Given the description of an element on the screen output the (x, y) to click on. 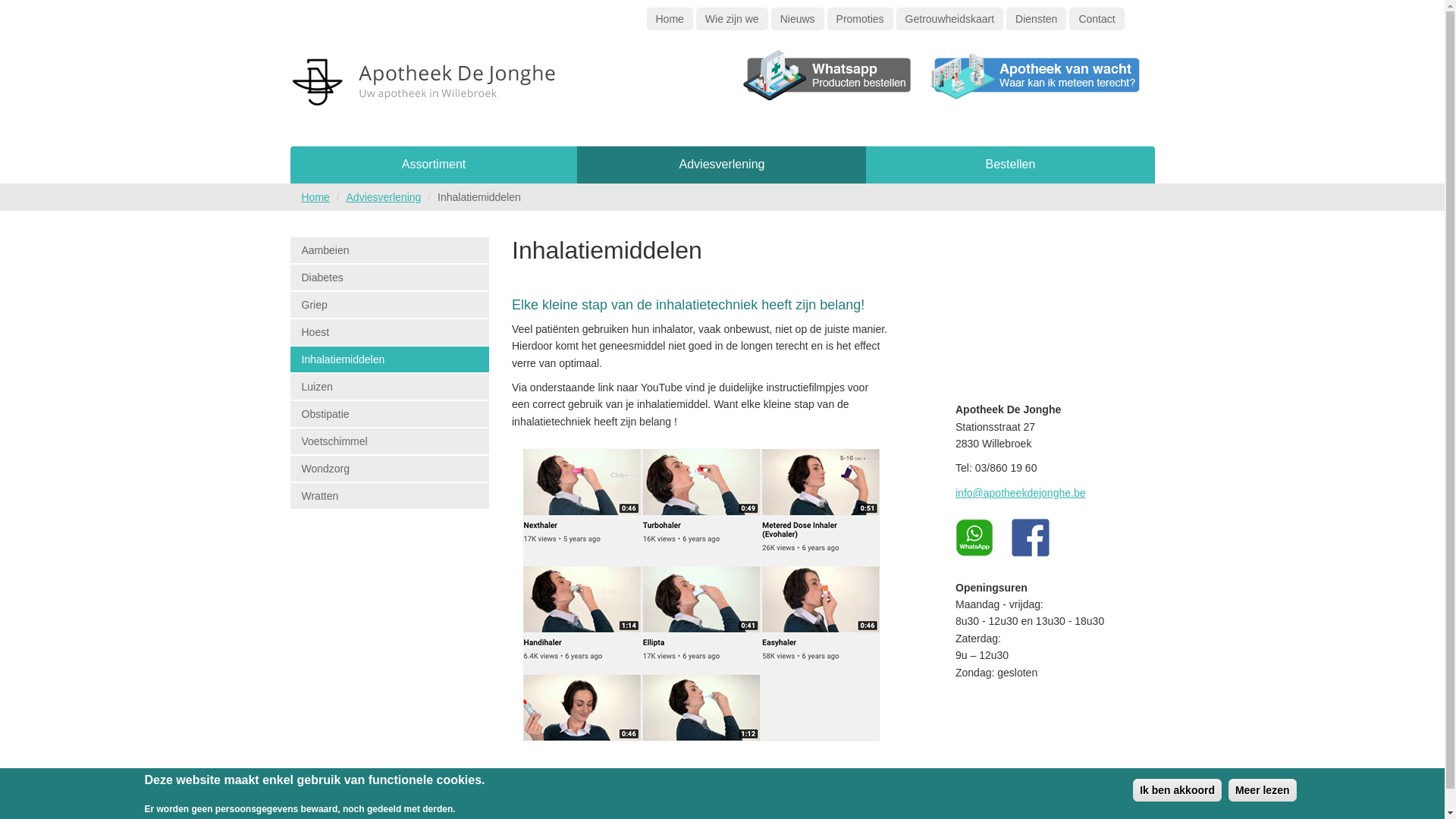
Diabetes Element type: text (389, 277)
Adviesverlening Element type: text (383, 197)
Griep Element type: text (389, 304)
Contact Element type: text (1096, 18)
Luizen Element type: text (389, 386)
Voetschimmel Element type: text (389, 441)
Home Element type: text (315, 197)
Hoest Element type: text (389, 332)
Skip to main content Element type: text (48, 0)
Wratten Element type: text (389, 495)
info@apotheekdejonghe.be Element type: text (1020, 492)
Nieuws Element type: text (797, 18)
Meer lezen Element type: text (1262, 789)
Diensten Element type: text (1036, 18)
Ik ben akkoord Element type: text (1176, 789)
Inhalatiemiddelen Element type: text (389, 359)
Assortiment Element type: text (433, 164)
Wondzorg Element type: text (389, 468)
Home Element type: text (669, 18)
Wie zijn we Element type: text (732, 18)
Home Element type: hover (425, 89)
Promoties Element type: text (860, 18)
Aambeien Element type: text (389, 250)
Getrouwheidskaart Element type: text (950, 18)
Adviesverlening Element type: text (721, 164)
Bestellen Element type: text (1010, 164)
Obstipatie Element type: text (389, 413)
